Given the description of an element on the screen output the (x, y) to click on. 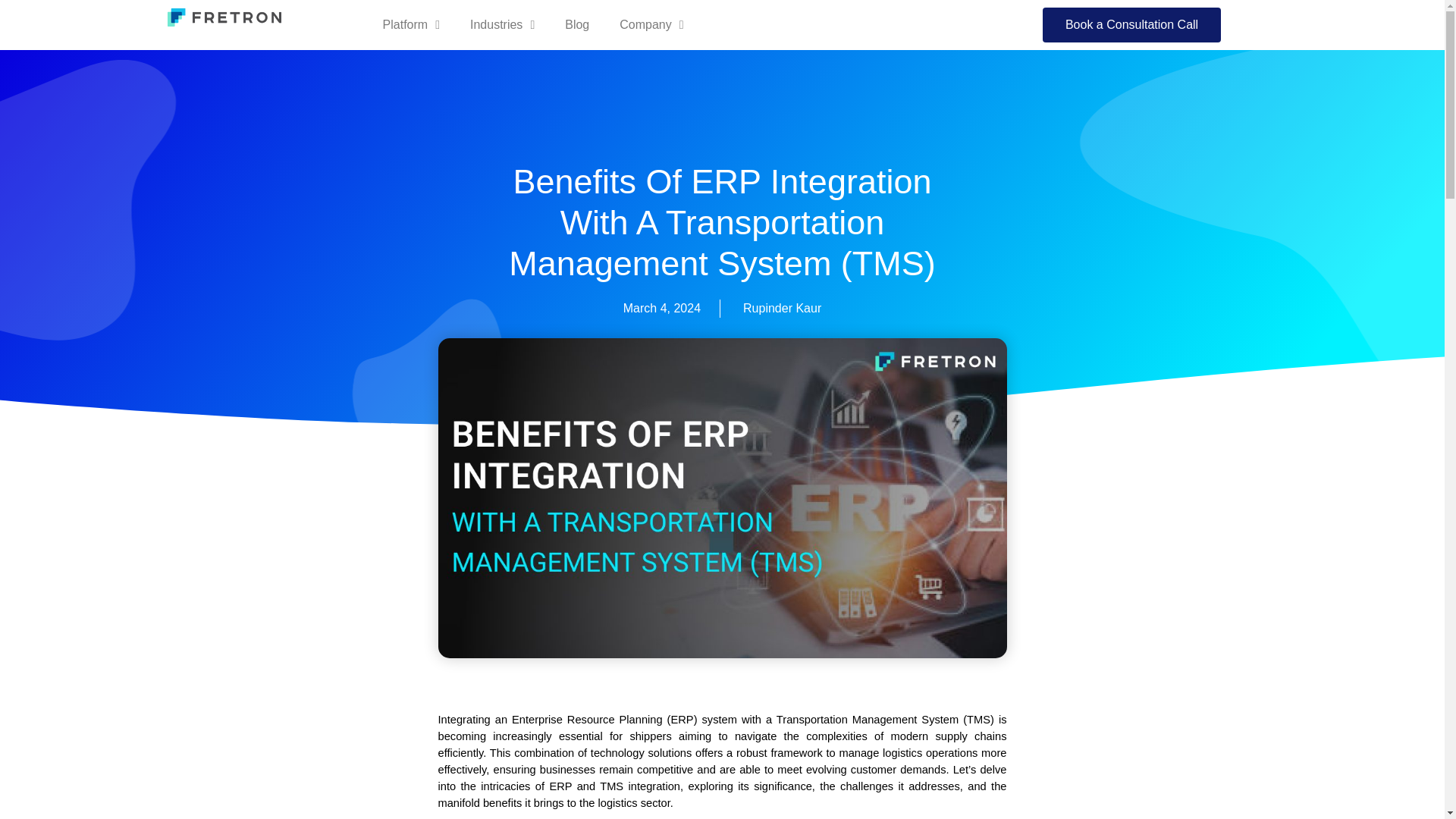
Blog (577, 24)
Platform (411, 24)
Industries (502, 24)
Company (651, 24)
